Given the description of an element on the screen output the (x, y) to click on. 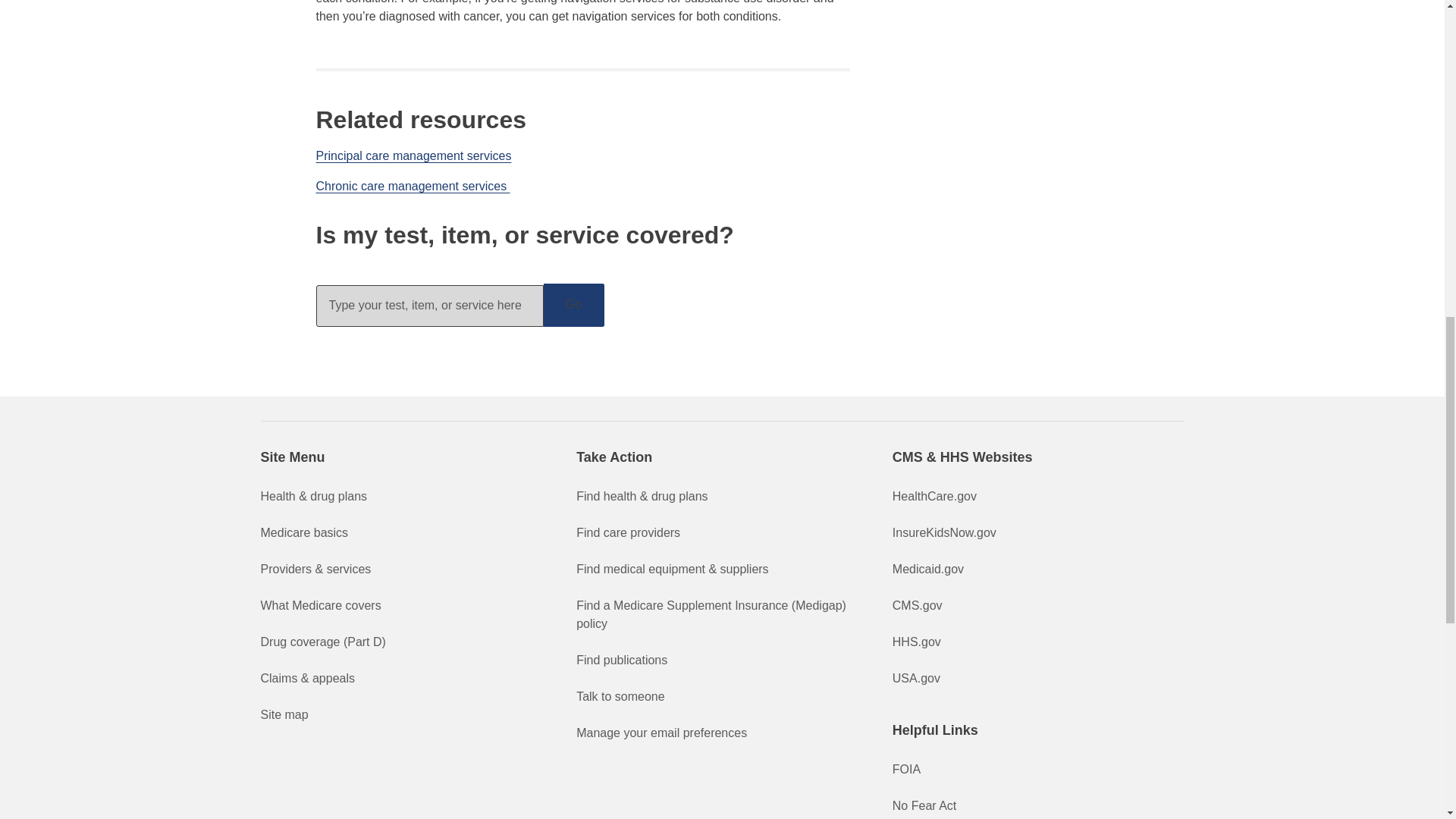
Freedom of Information Act (906, 768)
Go (573, 304)
Site Menu (406, 457)
Find publications (621, 659)
Go (573, 304)
Site map (284, 714)
Principal care management services (413, 155)
InsureKidsNow.gov (943, 532)
No Fear Act (924, 805)
Chronic care management services  (412, 185)
CMS.gov (917, 604)
What Medicare covers (320, 604)
HealthCare.gov (934, 495)
Take Action (721, 457)
Find care providers (627, 532)
